Given the description of an element on the screen output the (x, y) to click on. 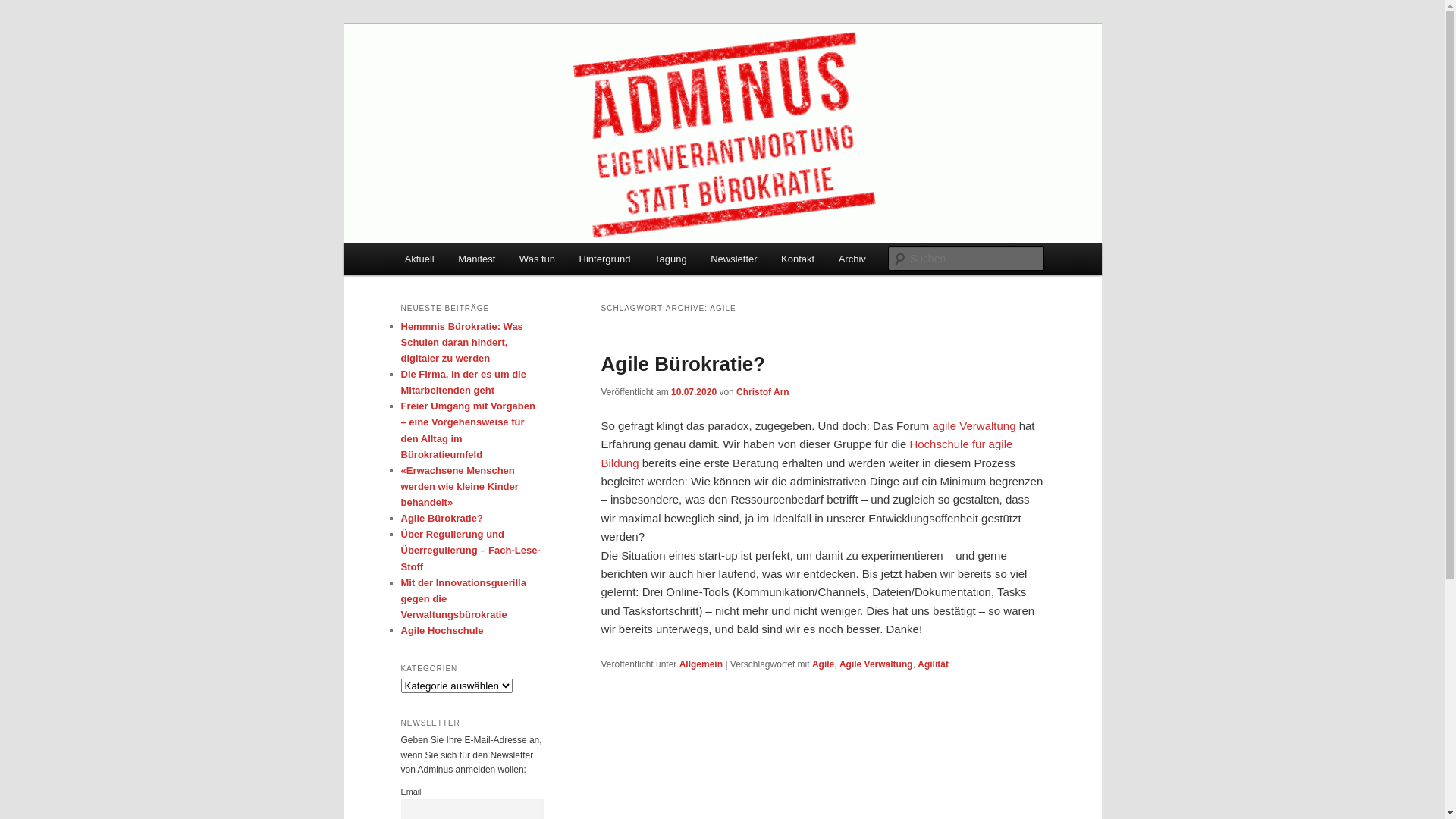
Archiv Element type: text (852, 258)
Was tun Element type: text (537, 258)
Christof Arn Element type: text (762, 391)
Zum Inhalt wechseln Element type: text (22, 22)
Aktuell Element type: text (419, 258)
Newsletter Element type: text (733, 258)
Die Firma, in der es um die Mitarbeitenden geht Element type: text (462, 381)
Agile Hochschule Element type: text (441, 630)
Allgemein Element type: text (700, 663)
10.07.2020 Element type: text (693, 391)
Hintergrund Element type: text (604, 258)
Agile Verwaltung Element type: text (876, 663)
Suchen Element type: text (25, 8)
Kontakt Element type: text (797, 258)
Agile Element type: text (823, 663)
agile Verwaltung Element type: text (973, 425)
Tagung Element type: text (670, 258)
Manifest Element type: text (476, 258)
Adminus Element type: text (448, 78)
